Given the description of an element on the screen output the (x, y) to click on. 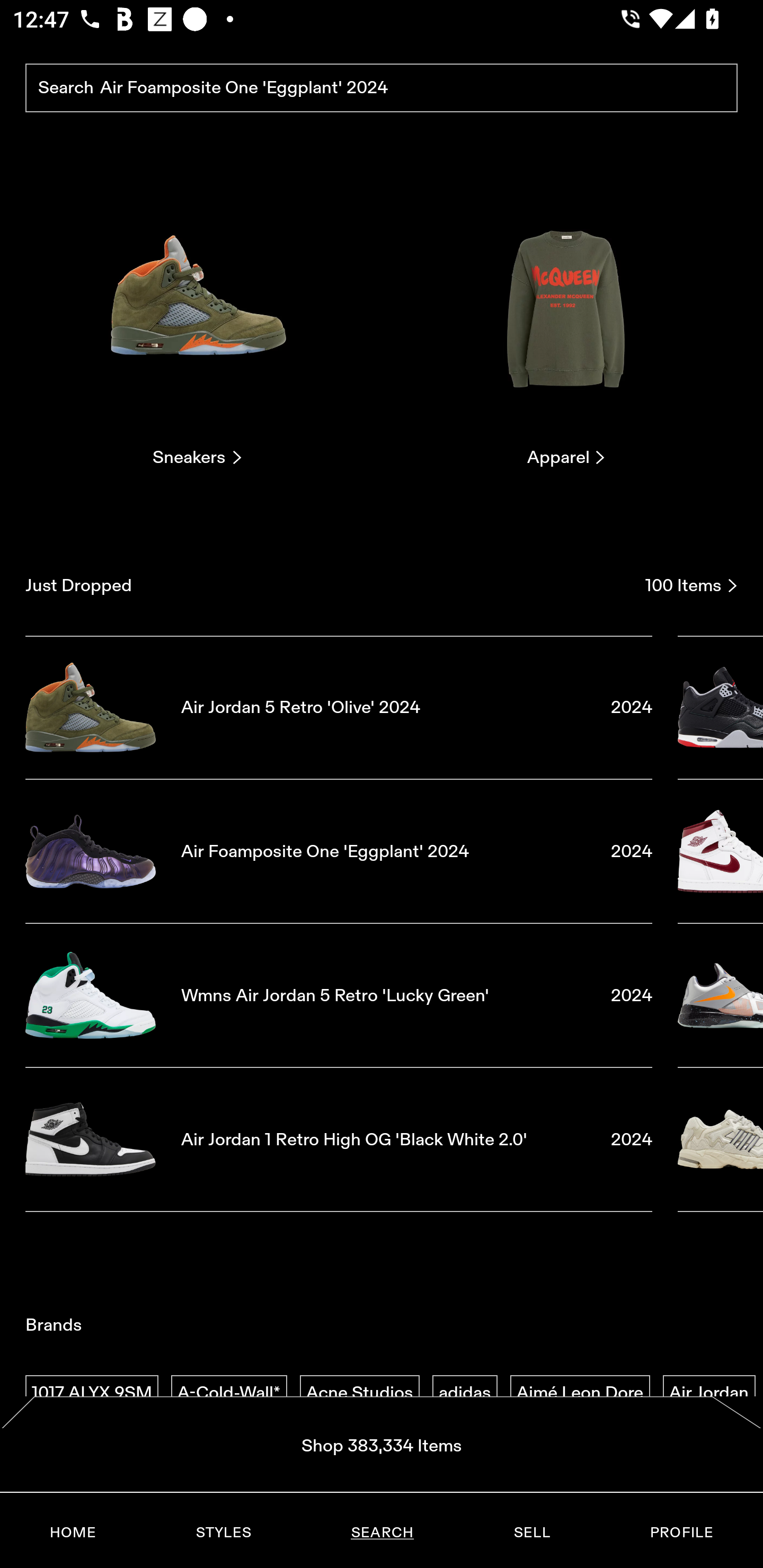
Search (381, 88)
Sneakers (196, 323)
Apparel (565, 323)
Just Dropped (328, 585)
100 Items (691, 585)
Air Jordan 5 Retro 'Olive' 2024 2024 (338, 707)
Air Foamposite One 'Eggplant' 2024 2024 (338, 851)
Wmns Air Jordan 5 Retro 'Lucky Green' 2024 (338, 995)
Air Jordan 1 Retro High OG 'Black White 2.0' 2024 (338, 1139)
1017 ALYX 9SM (91, 1393)
A-Cold-Wall* (228, 1393)
Acne Studios (359, 1393)
adidas (464, 1393)
Aimé Leon Dore (580, 1393)
Air Jordan (709, 1393)
HOME (72, 1532)
STYLES (222, 1532)
SEARCH (381, 1532)
SELL (531, 1532)
PROFILE (681, 1532)
